Given the description of an element on the screen output the (x, y) to click on. 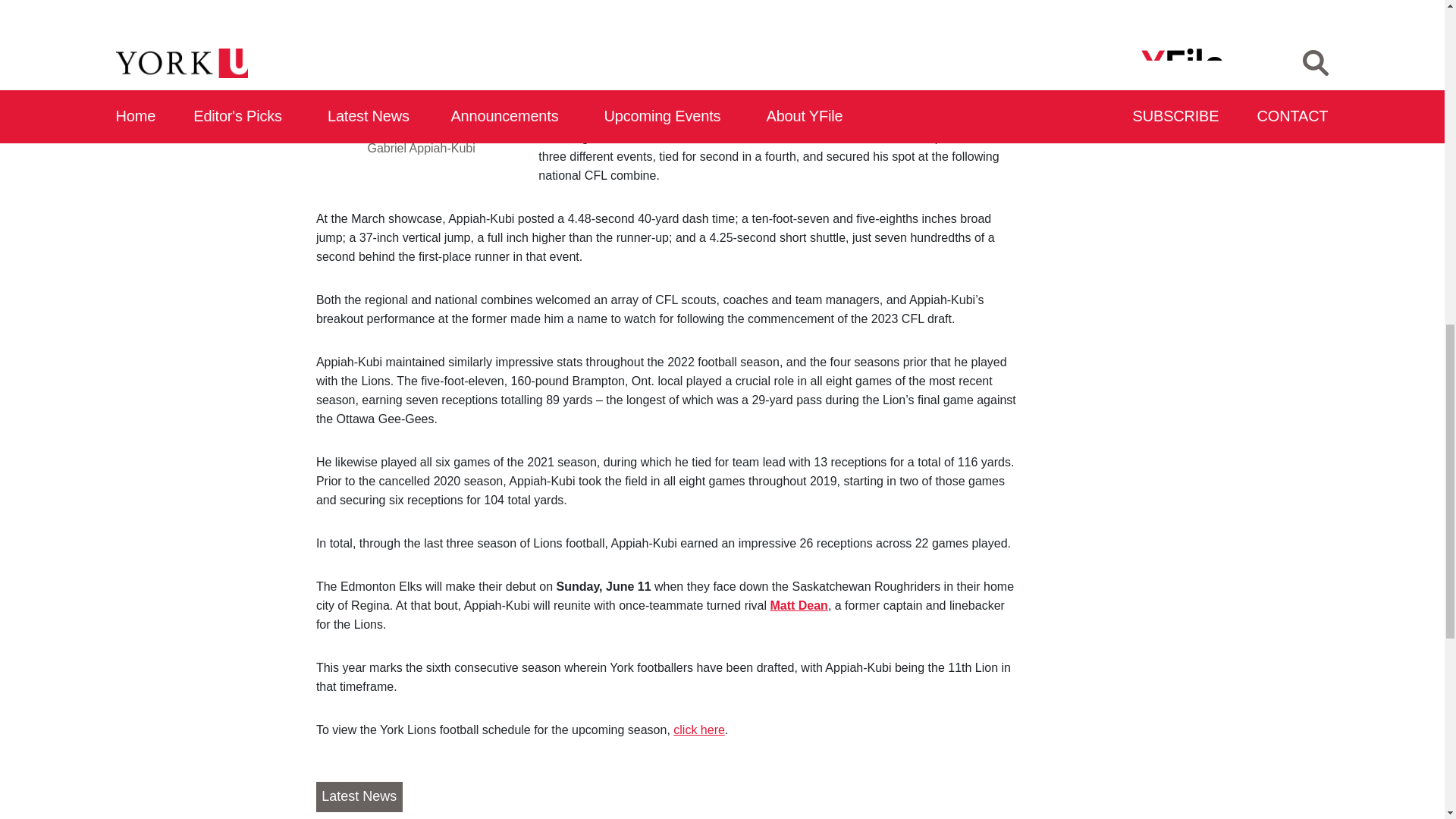
Gabriel Appiah-Kubi (403, 11)
Latest News (359, 797)
Matt Dean (798, 604)
click here (698, 729)
